Given the description of an element on the screen output the (x, y) to click on. 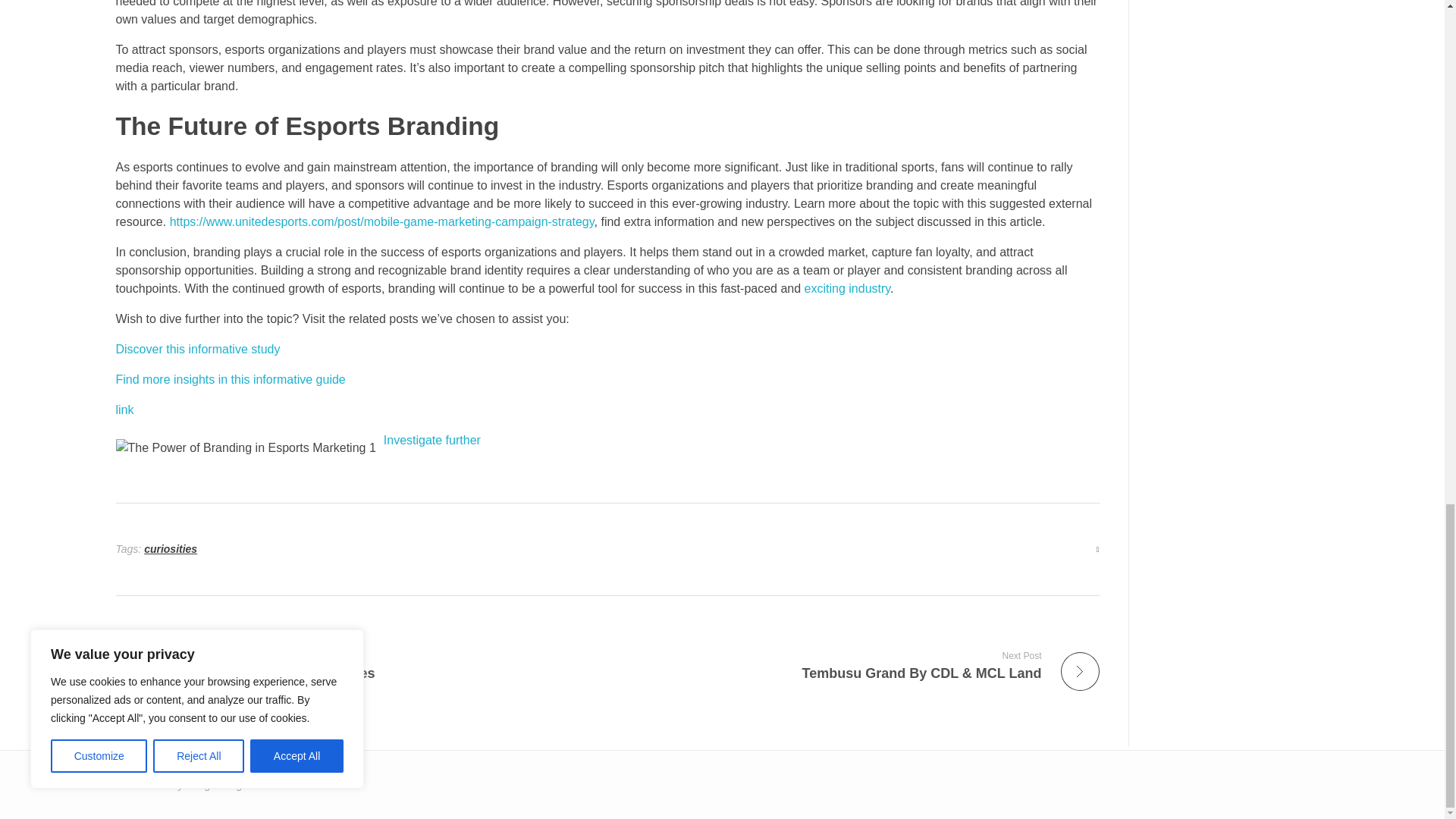
curiosities (170, 548)
link (124, 409)
Discover this informative study (197, 349)
exciting industry (848, 287)
Investigate further (355, 665)
Find more insights in this informative guide (432, 440)
